Given the description of an element on the screen output the (x, y) to click on. 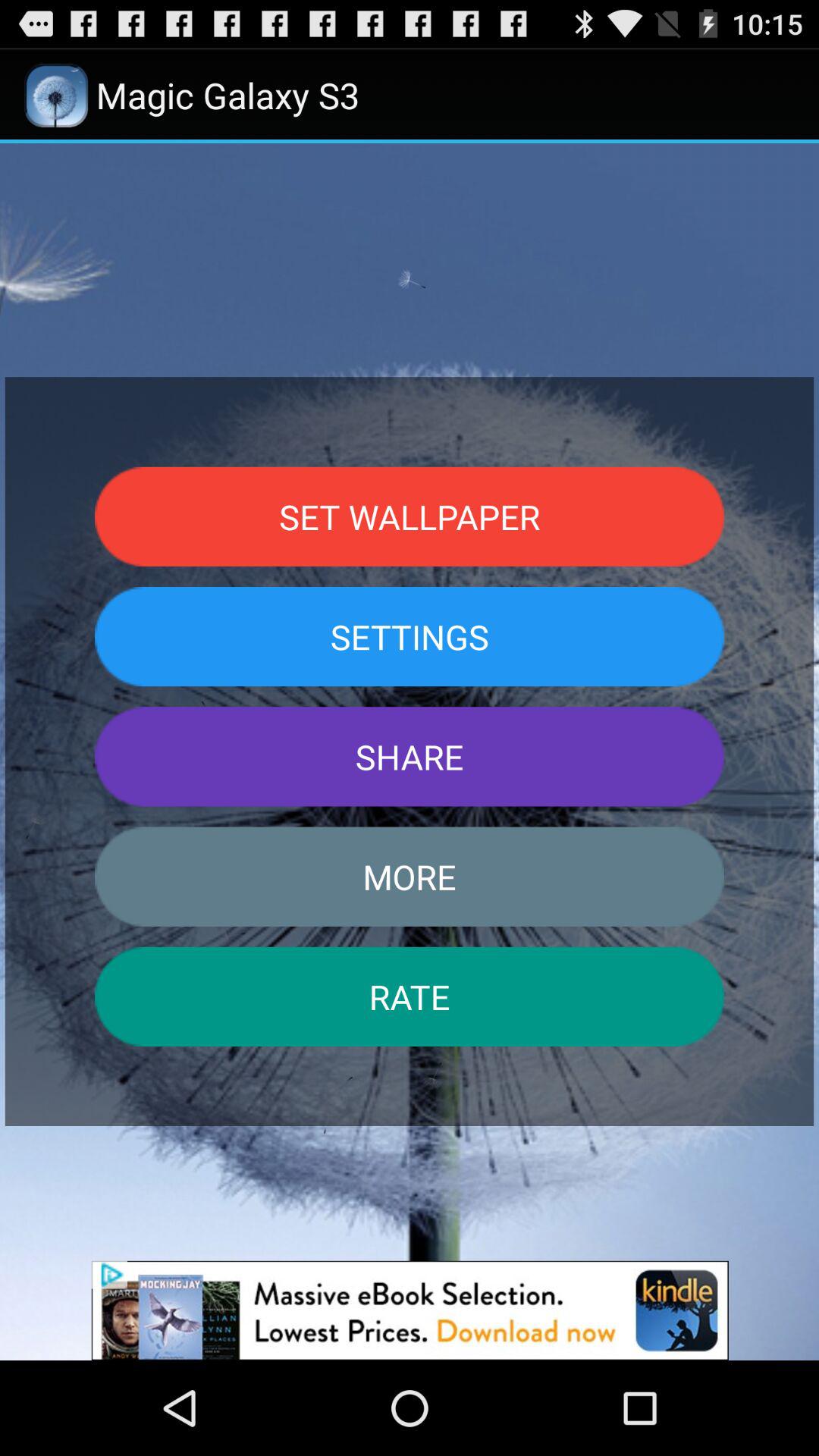
click advertisement (409, 1310)
